Given the description of an element on the screen output the (x, y) to click on. 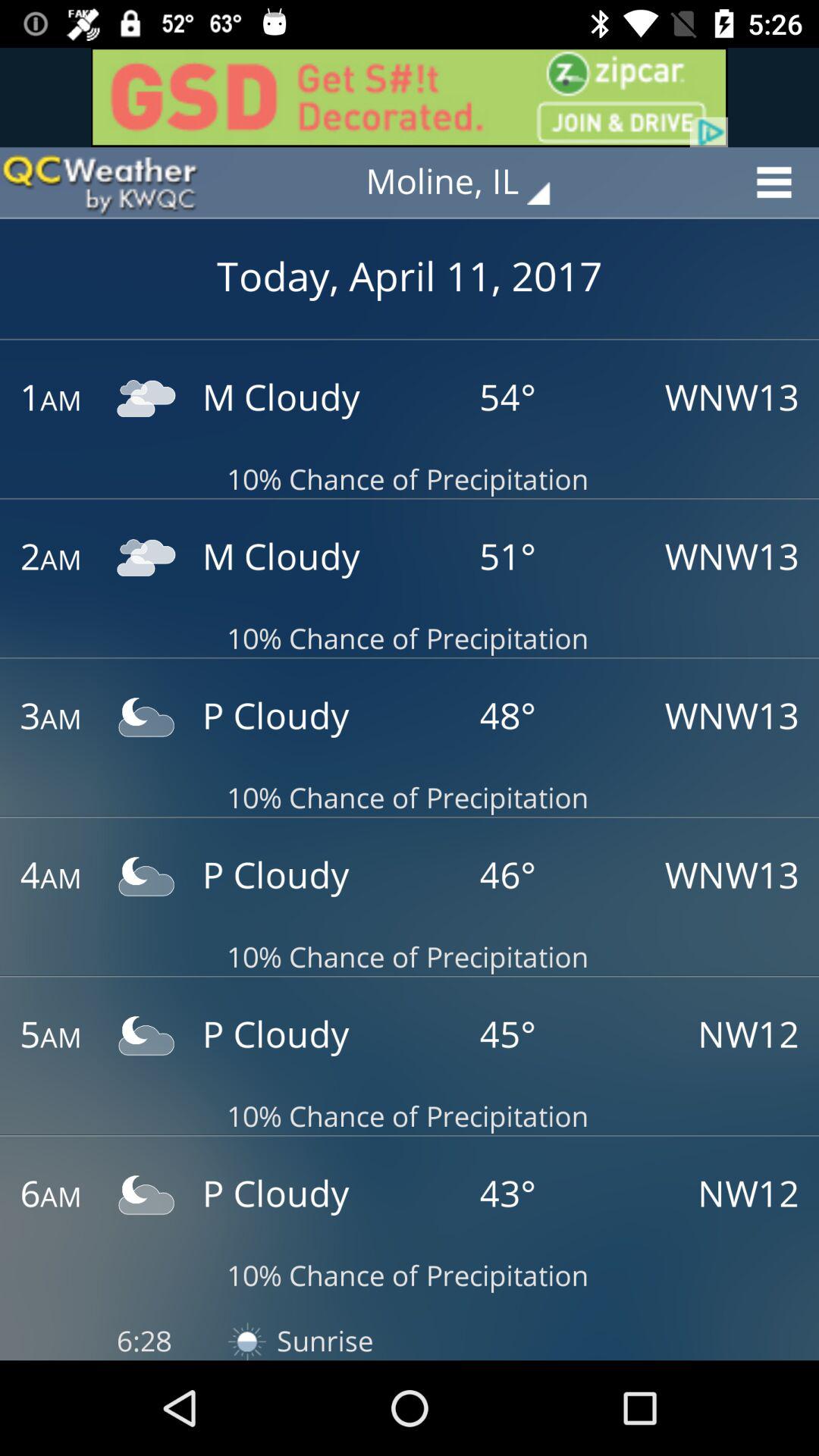
goes back to the front or main page (99, 182)
